Given the description of an element on the screen output the (x, y) to click on. 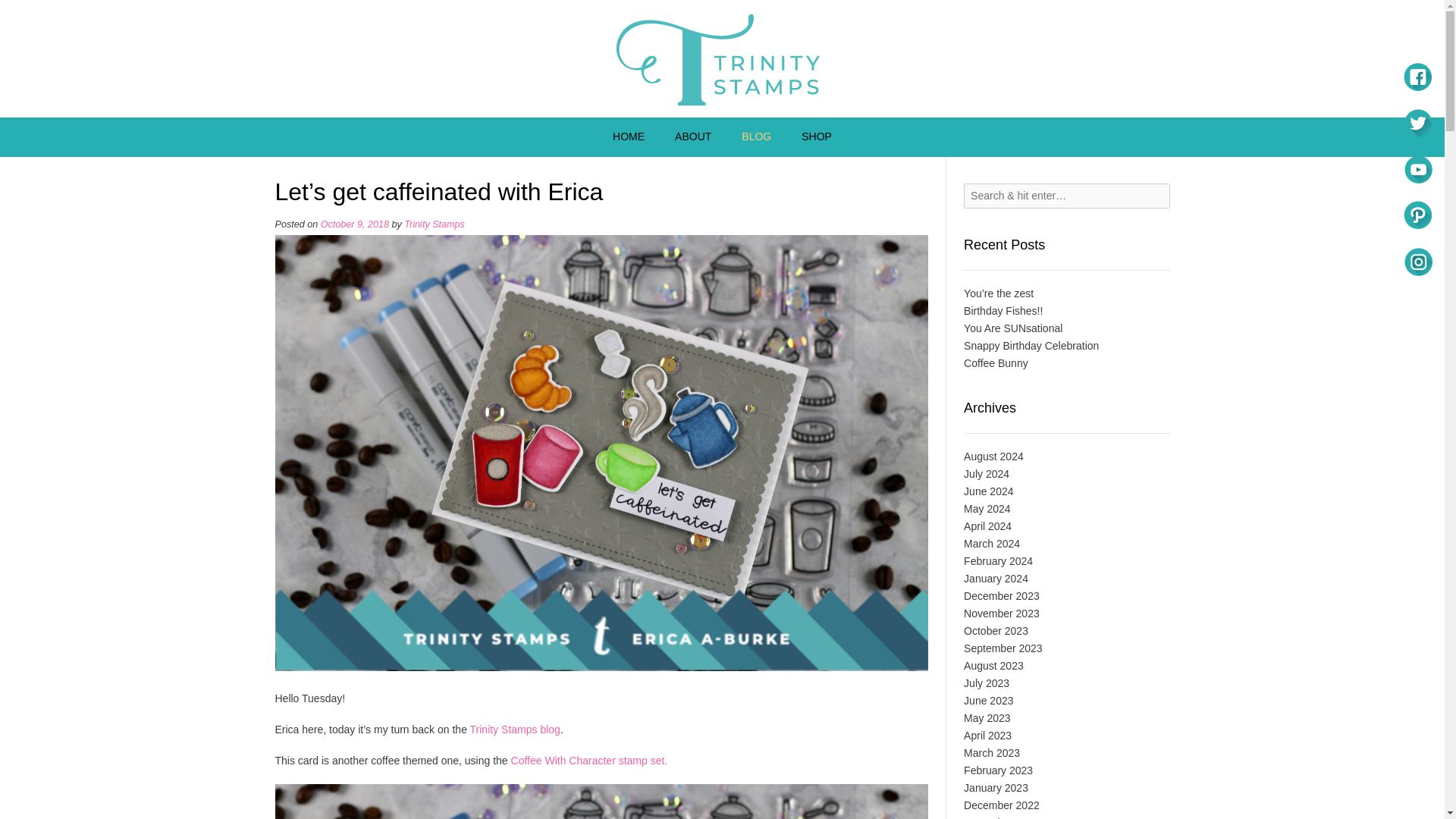
BLOG (756, 137)
October 9, 2018 (354, 224)
Trinity Stamps (434, 224)
Trinity Stamps (721, 58)
ABOUT (692, 137)
Trinity Stamps blog (515, 729)
Facebook (1416, 76)
Coffee With Character stamp set. (589, 760)
Search for: (1066, 195)
HOME (627, 137)
